Given the description of an element on the screen output the (x, y) to click on. 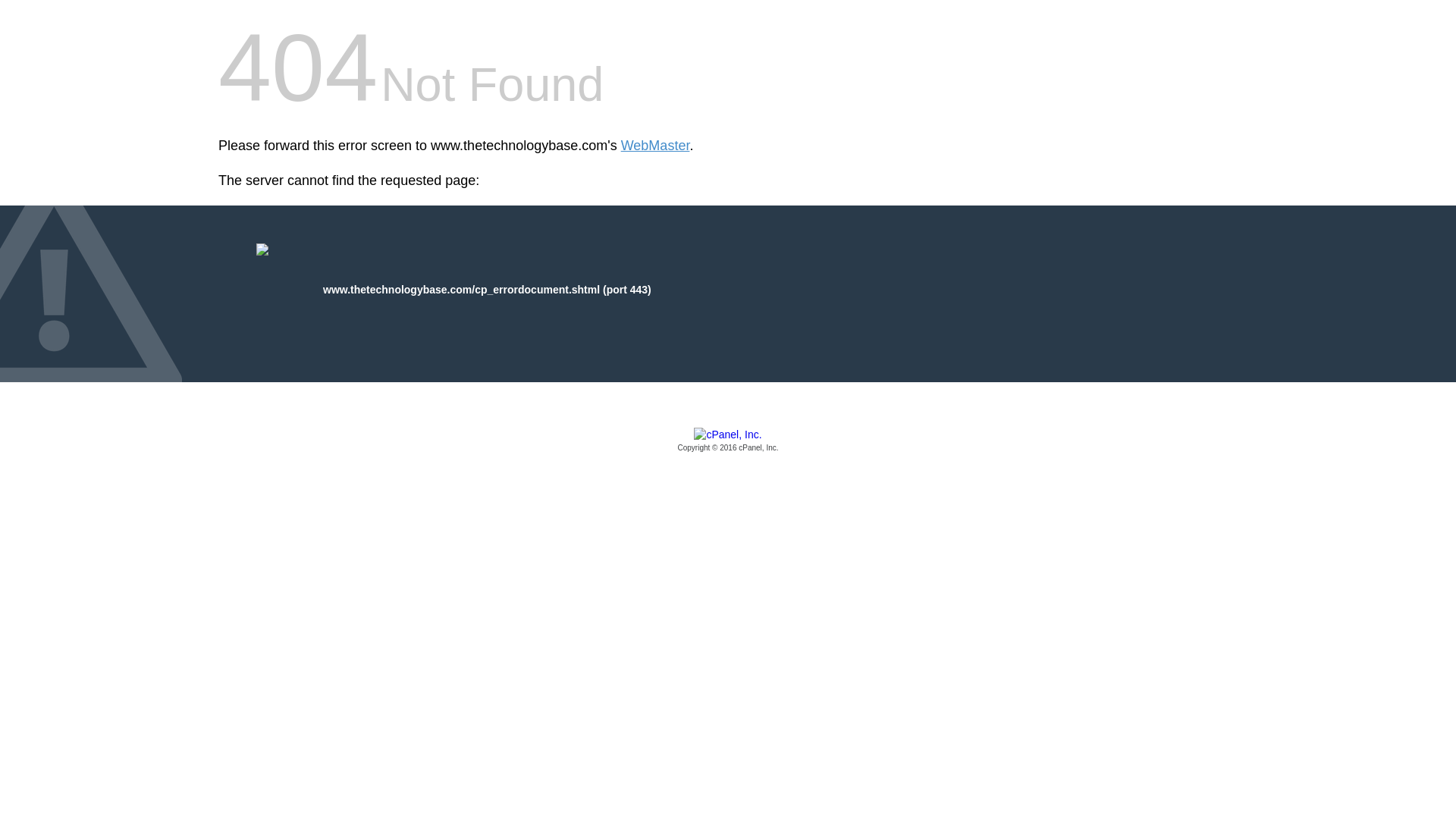
WebMaster (655, 145)
cPanel, Inc. (727, 440)
